Given the description of an element on the screen output the (x, y) to click on. 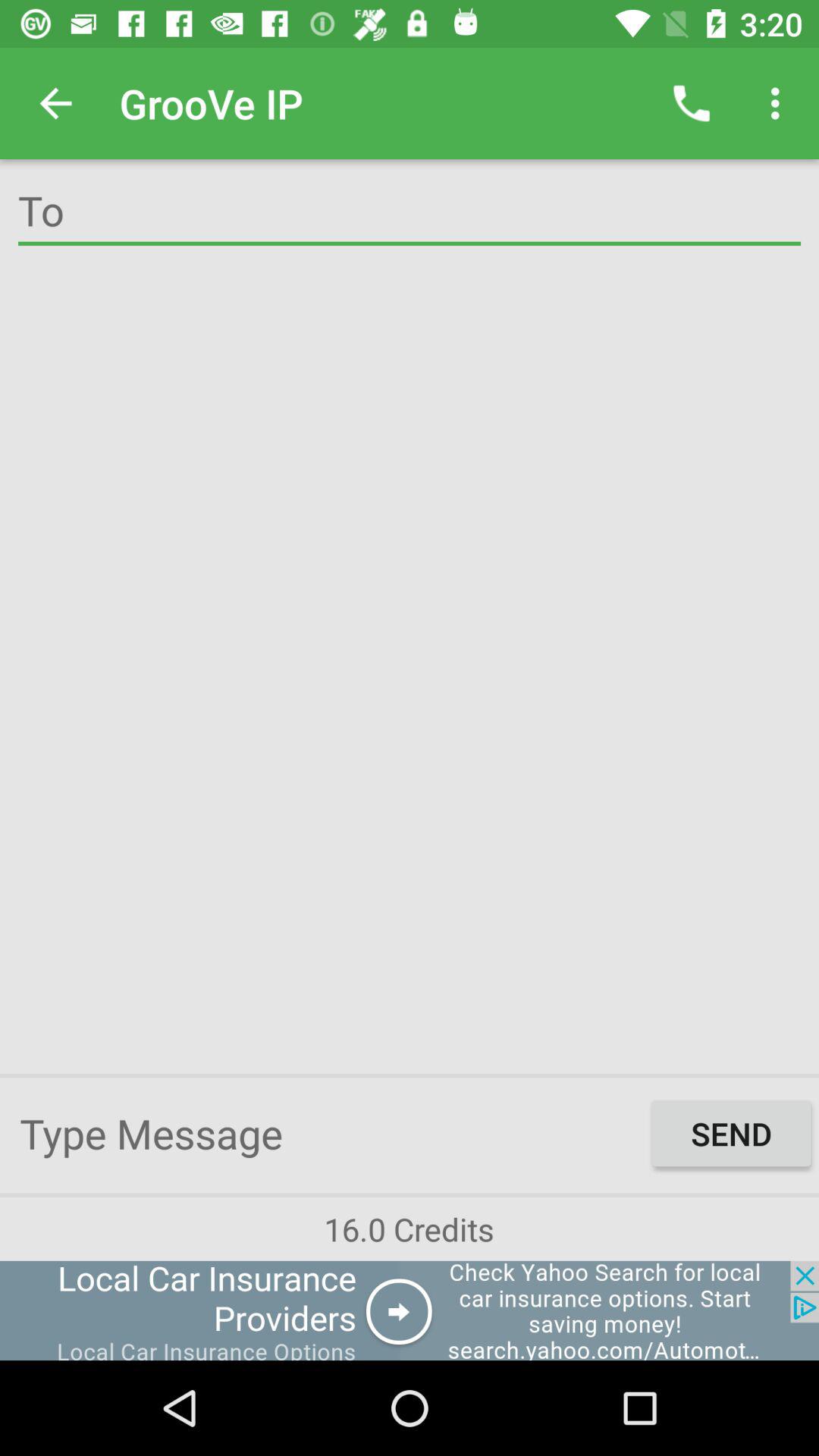
car insurance on yahoo advertisement (409, 1310)
